Given the description of an element on the screen output the (x, y) to click on. 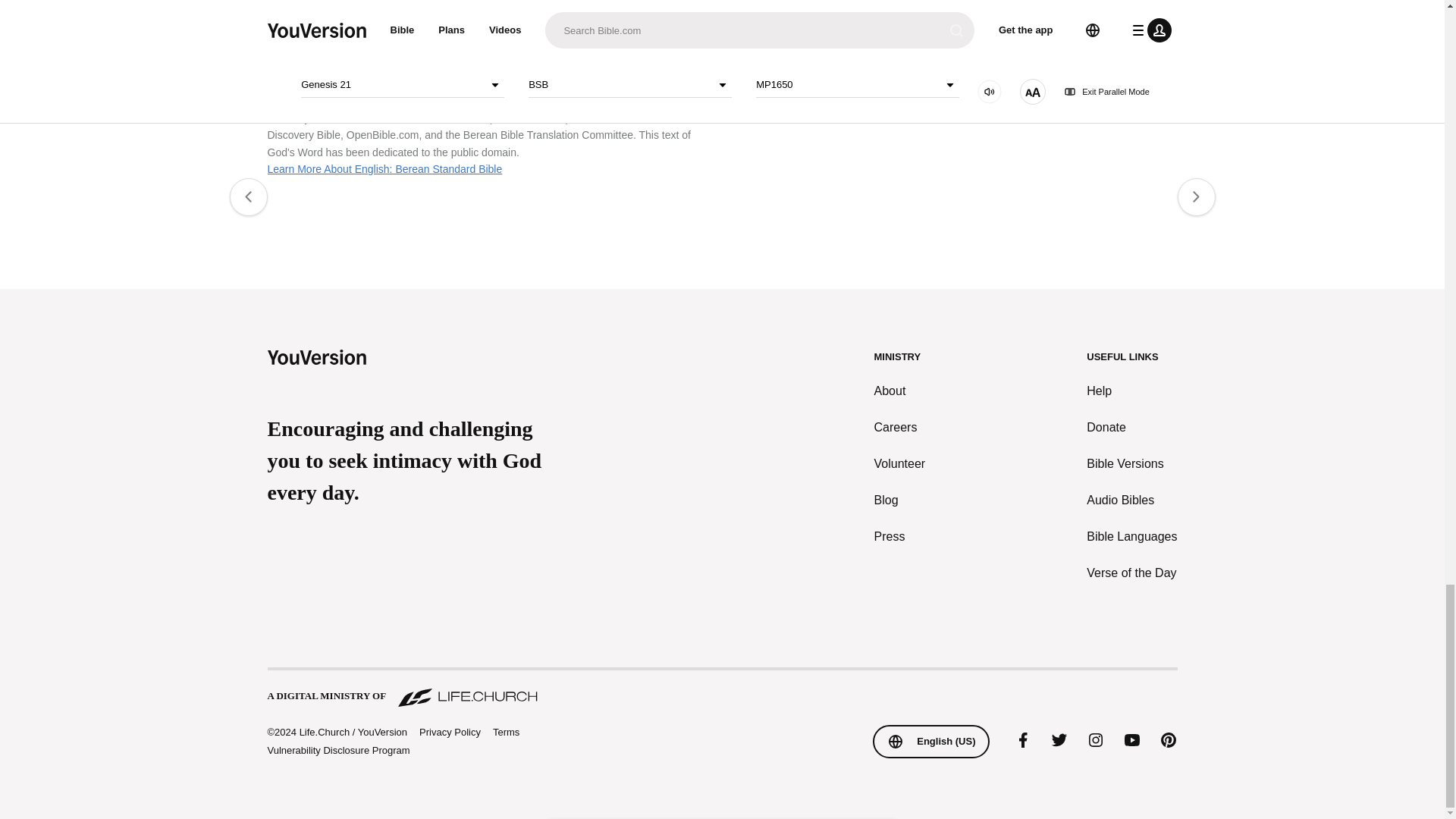
About (900, 391)
Bible Languages (1131, 536)
Help (1131, 391)
A DIGITAL MINISTRY OF (721, 688)
Vulnerability Disclosure Program (337, 749)
Audio Bibles (1131, 500)
Blog (900, 500)
Verse of the Day (1131, 573)
Learn More About English: Berean Standard Bible (384, 168)
Careers (900, 427)
